Given the description of an element on the screen output the (x, y) to click on. 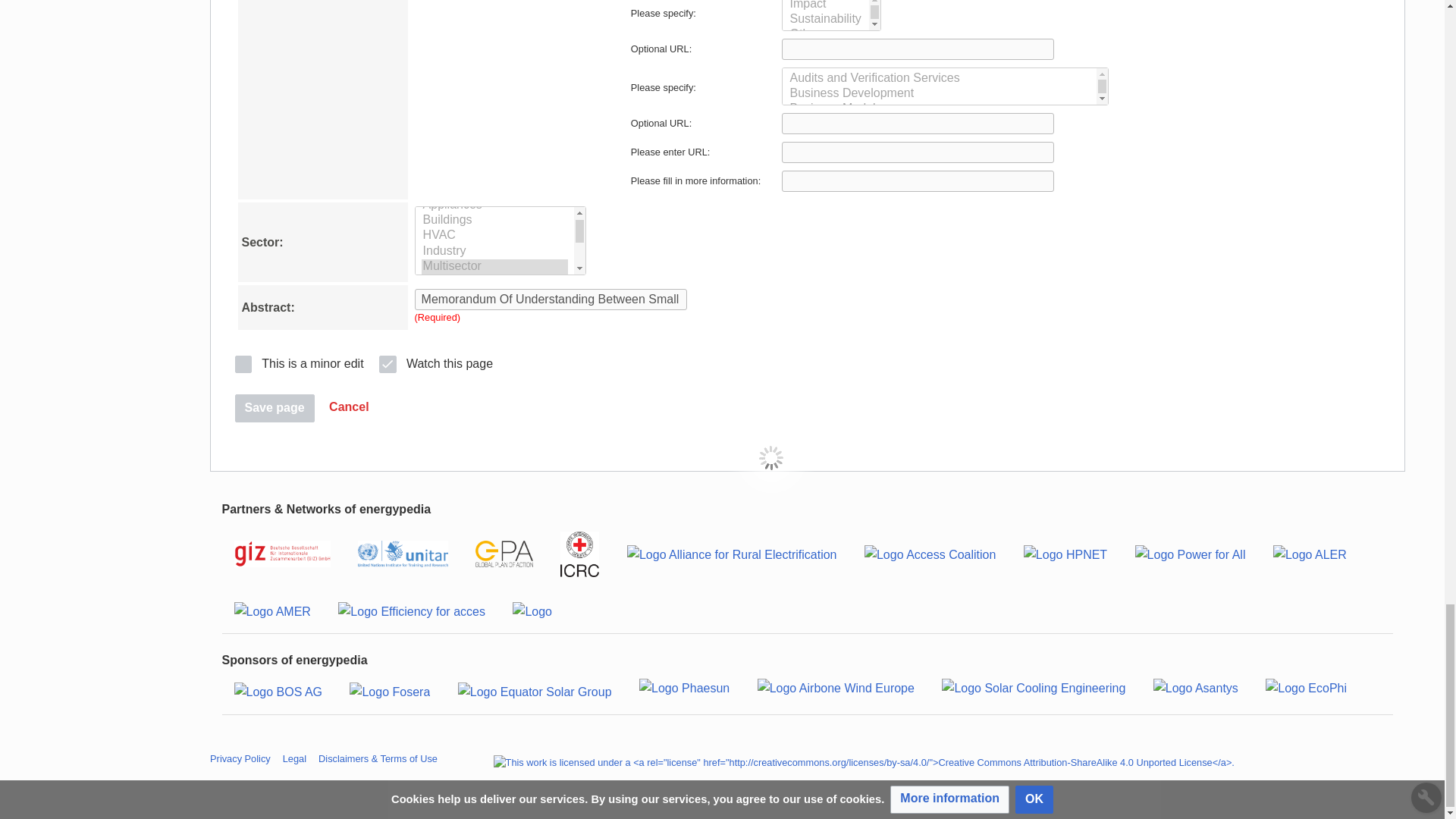
Add this page to your watchlist (435, 362)
Save page (274, 407)
Mark this as a minor edit (299, 362)
Cancel (348, 407)
